Given the description of an element on the screen output the (x, y) to click on. 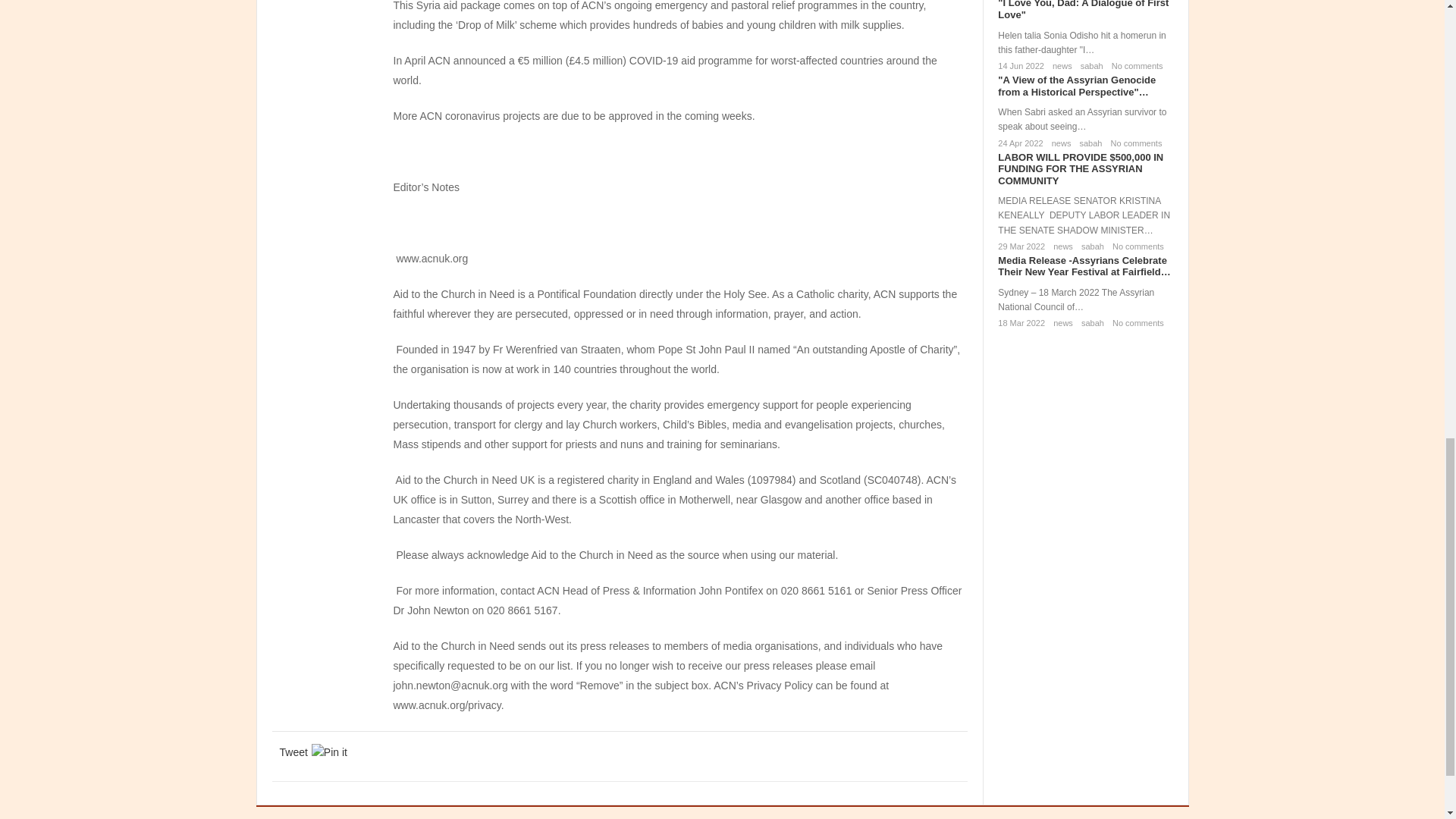
Pin it (329, 751)
Tweet (293, 751)
I Love You, Dad: A Dialogue of First Love (1083, 10)
